Given the description of an element on the screen output the (x, y) to click on. 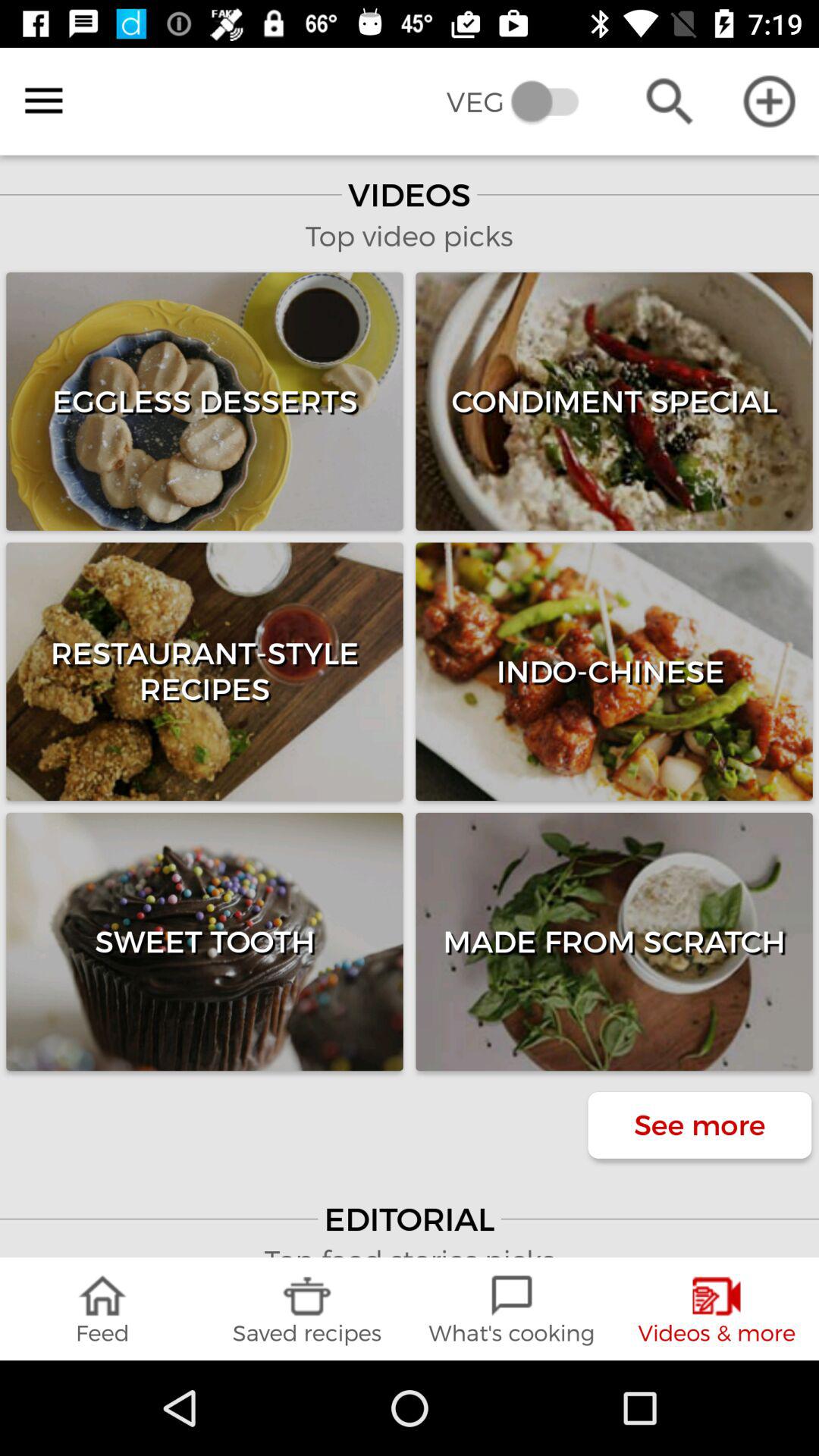
swipe to see more item (699, 1125)
